Given the description of an element on the screen output the (x, y) to click on. 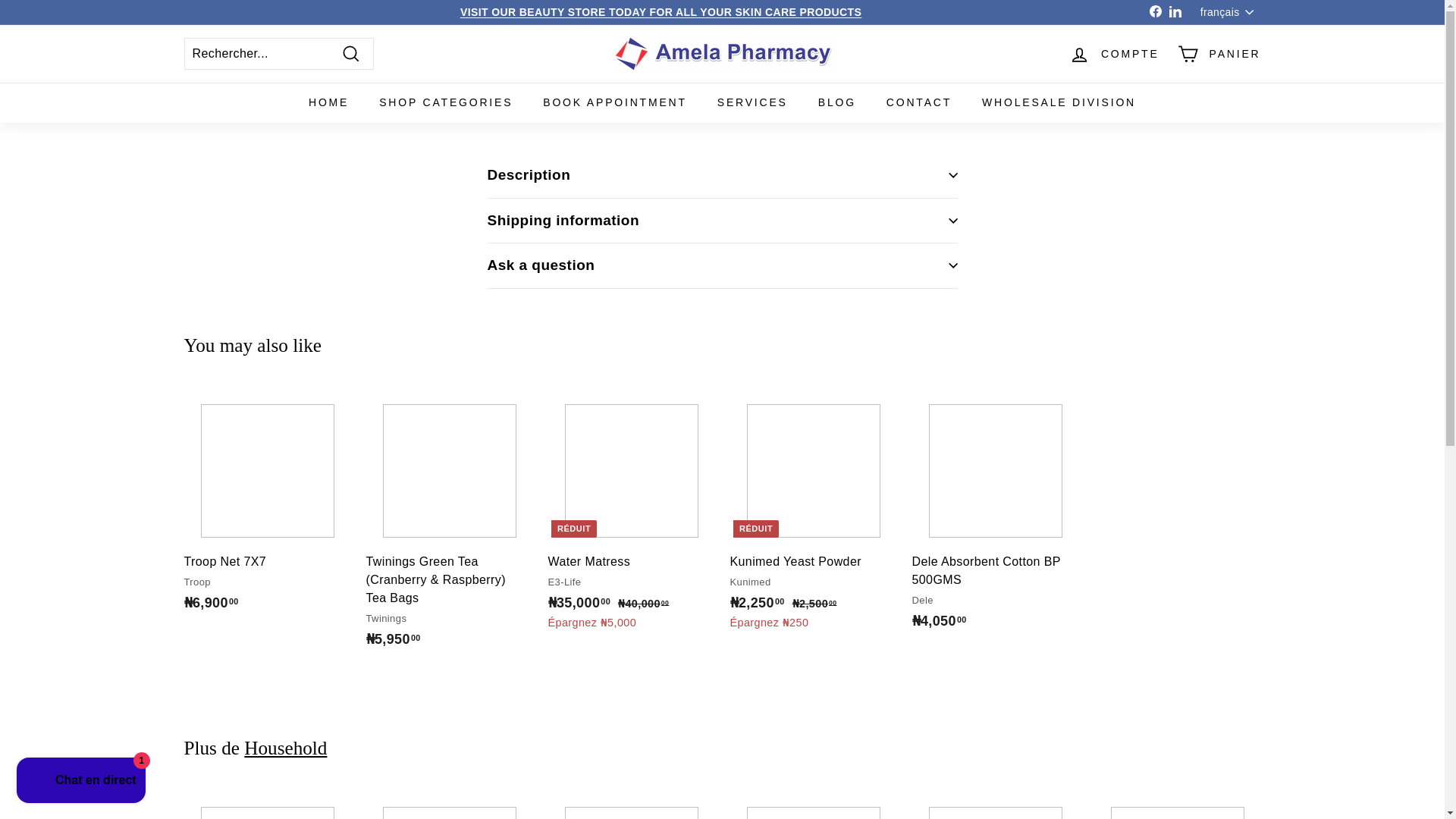
HOME (329, 102)
Click Here (660, 11)
VISIT OUR BEAUTY STORE TODAY FOR ALL YOUR SKIN CARE PRODUCTS (660, 11)
CONTACT (918, 102)
COMPTE (1114, 53)
WHOLESALE DIVISION (1058, 102)
SERVICES (752, 102)
BOOK APPOINTMENT (614, 102)
SHOP CATEGORIES (445, 102)
BLOG (836, 102)
